Given the description of an element on the screen output the (x, y) to click on. 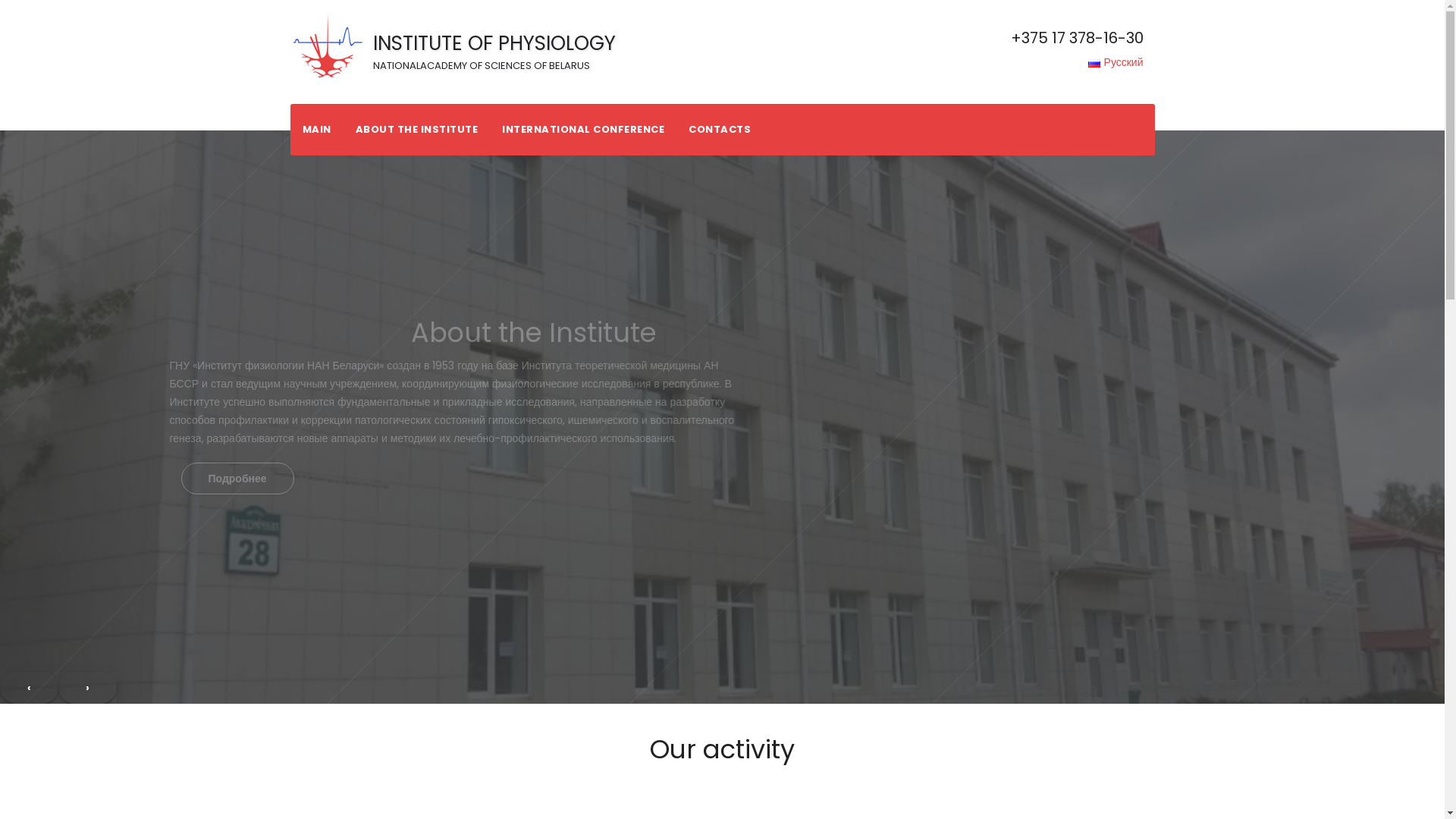
CONTACTS Element type: text (719, 129)
ABOUT THE INSTITUTE Element type: text (415, 129)
MAIN Element type: text (315, 129)
INTERNATIONAL CONFERENCE Element type: text (582, 129)
